Given the description of an element on the screen output the (x, y) to click on. 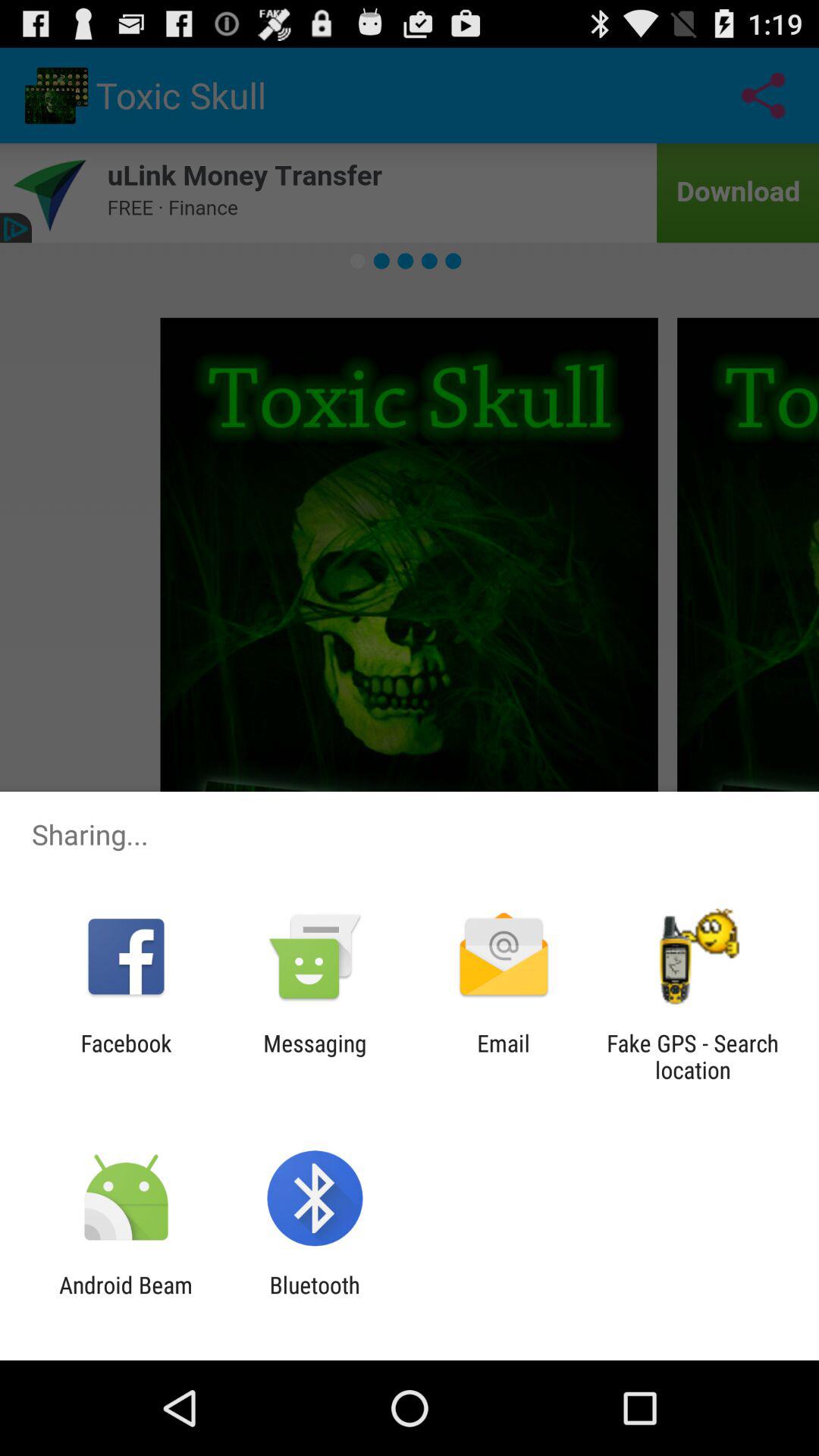
choose app to the right of the email (692, 1056)
